Given the description of an element on the screen output the (x, y) to click on. 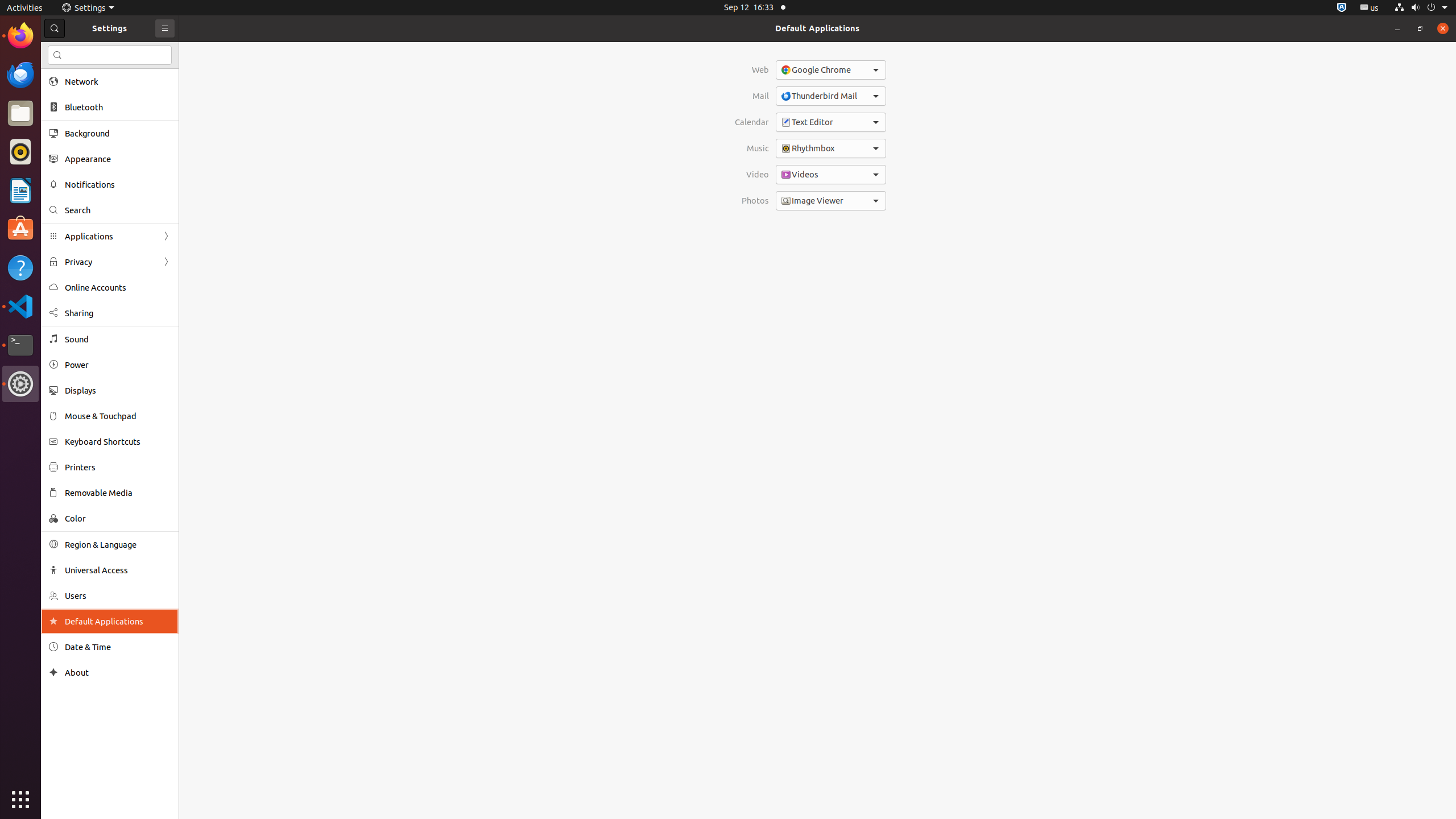
Keyboard Shortcuts Element type: label (117, 441)
Primary Menu Element type: toggle-button (164, 28)
About Element type: label (117, 672)
Search Element type: label (117, 209)
